Given the description of an element on the screen output the (x, y) to click on. 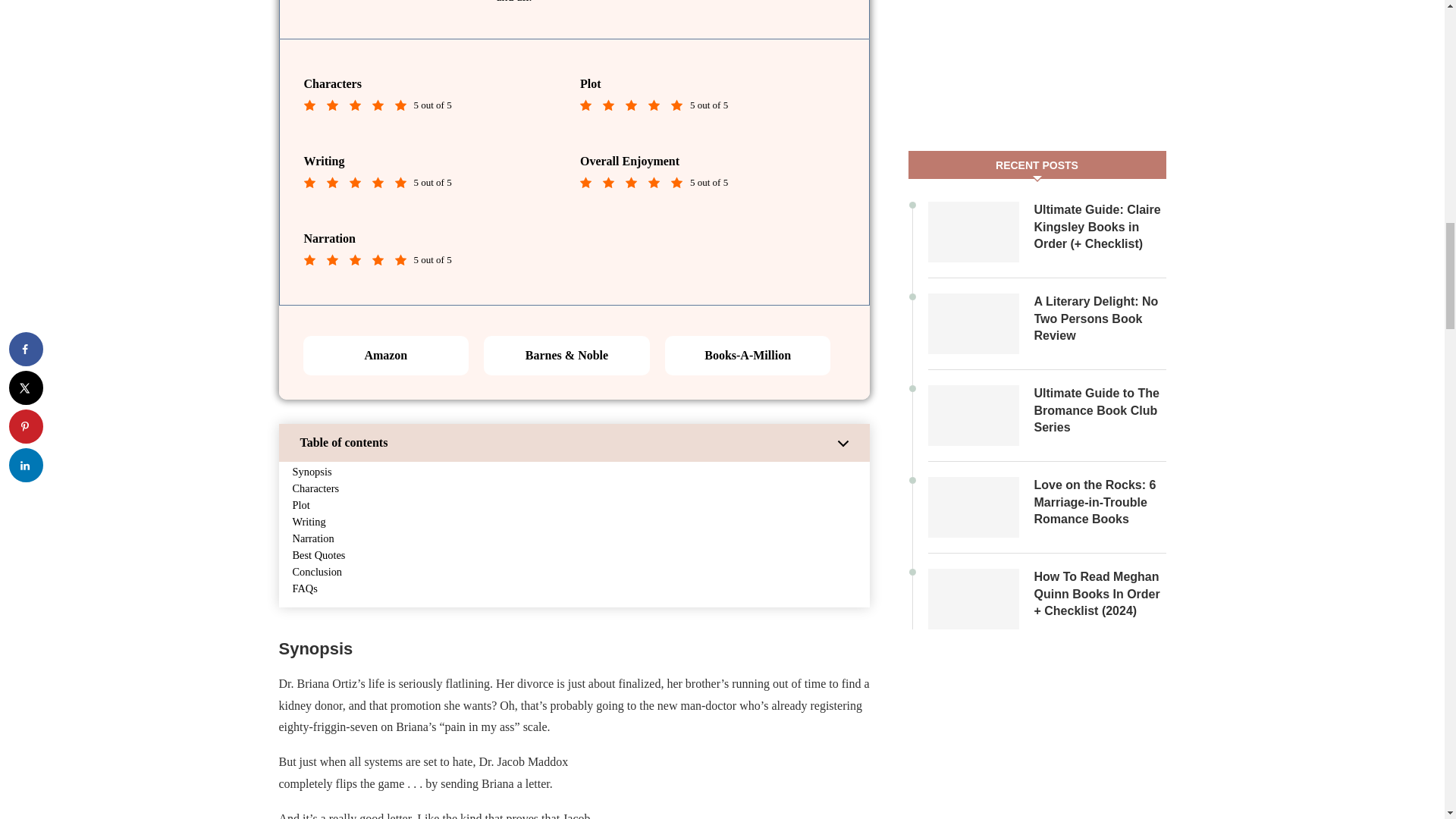
Narration (313, 538)
Writing  (309, 521)
Characters (315, 488)
Synopsis (311, 472)
Plot (301, 504)
